Given the description of an element on the screen output the (x, y) to click on. 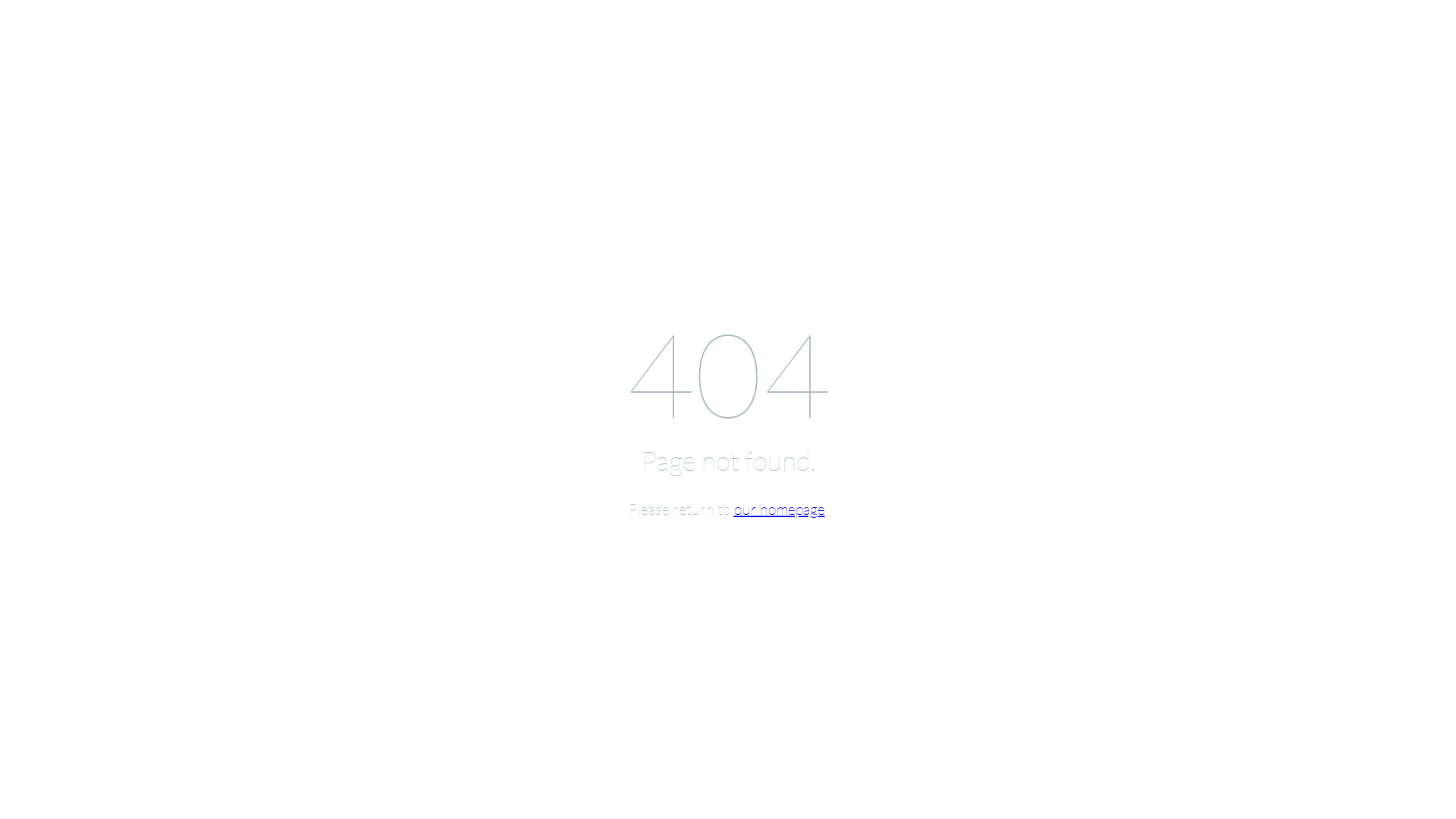
our homepage Element type: text (779, 507)
